Given the description of an element on the screen output the (x, y) to click on. 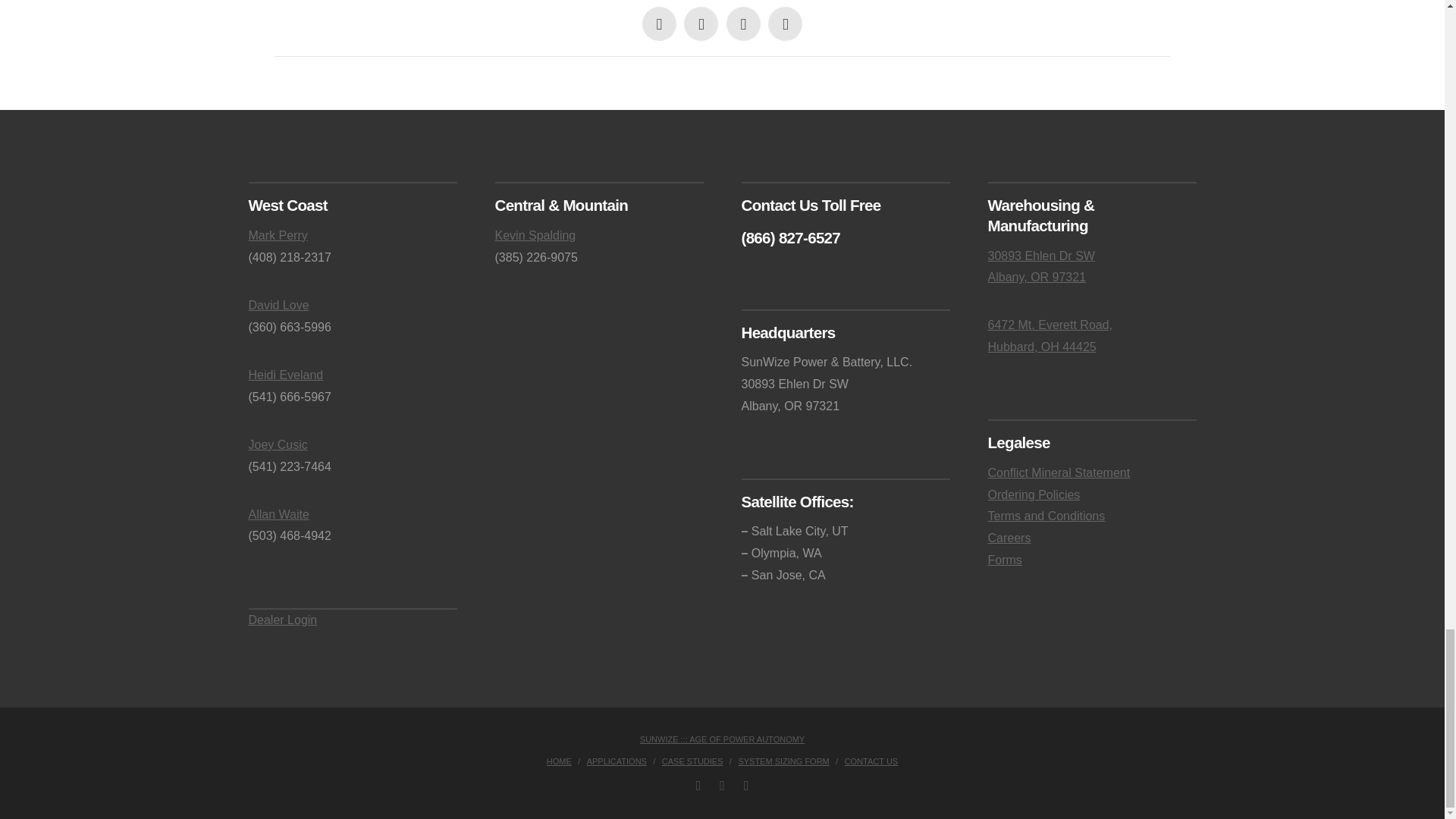
Share via Email (785, 23)
Share on LinkedIn (743, 23)
Share on Facebook (659, 23)
